Given the description of an element on the screen output the (x, y) to click on. 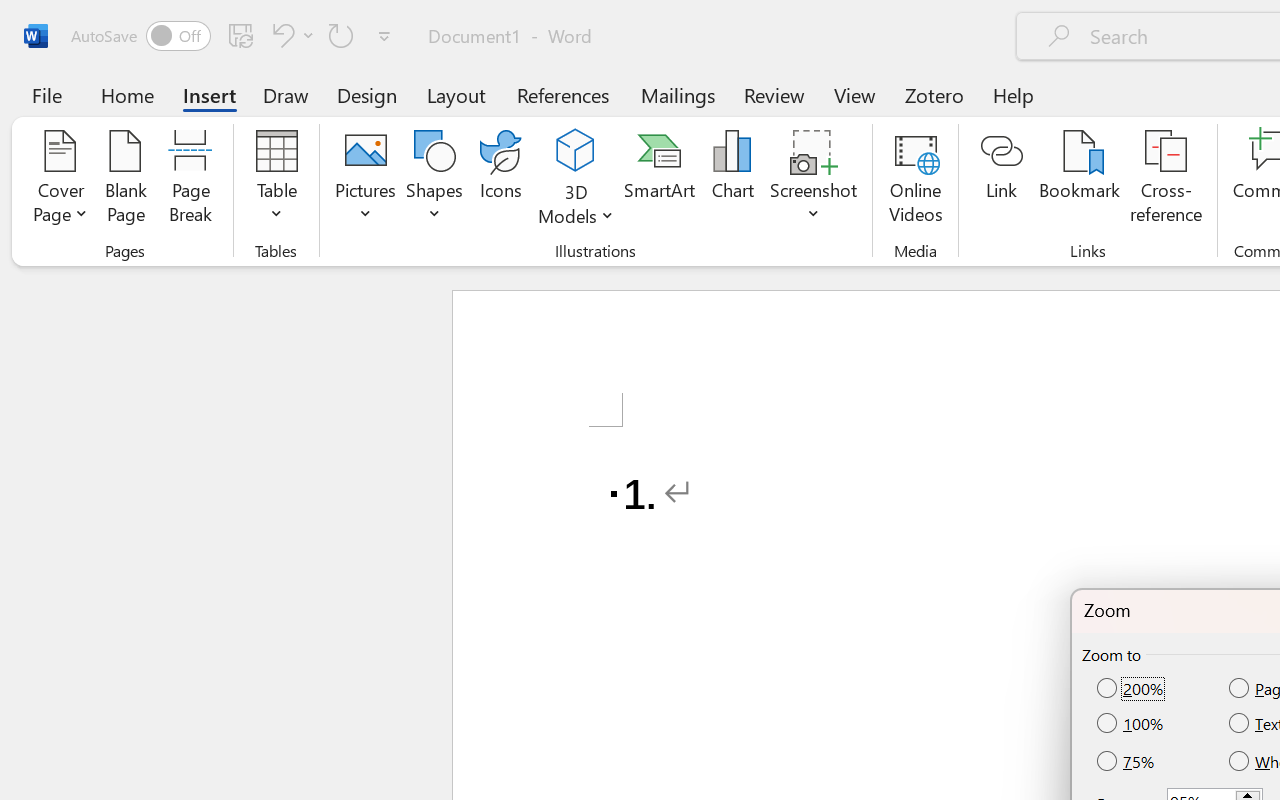
75% (1127, 760)
3D Models (576, 151)
SmartArt... (659, 179)
Cross-reference... (1165, 179)
Link (1001, 179)
Page Break (190, 179)
Repeat Doc Close (341, 35)
Chart... (732, 179)
Screenshot (813, 179)
